Given the description of an element on the screen output the (x, y) to click on. 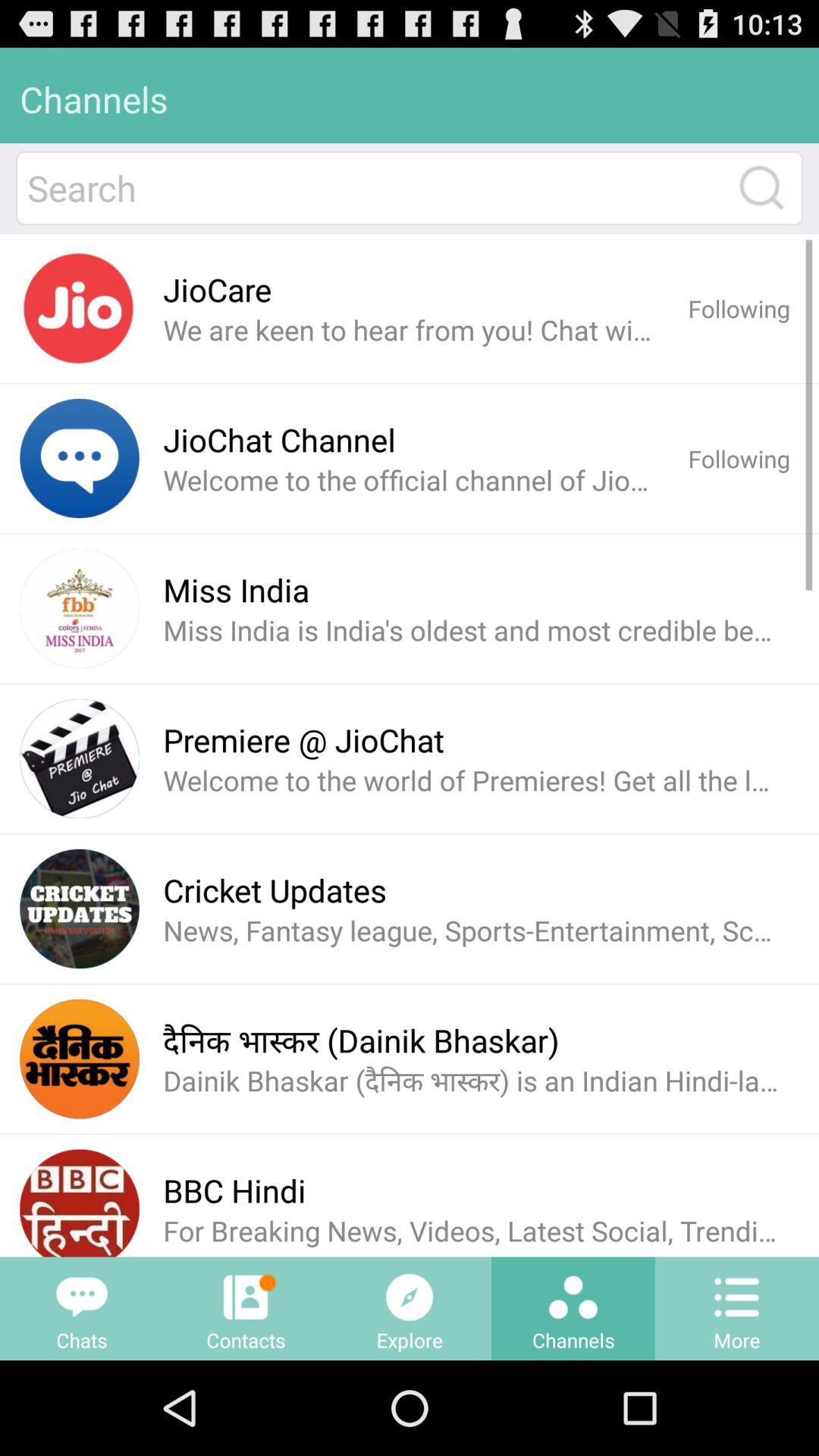
enter search item (374, 188)
